Given the description of an element on the screen output the (x, y) to click on. 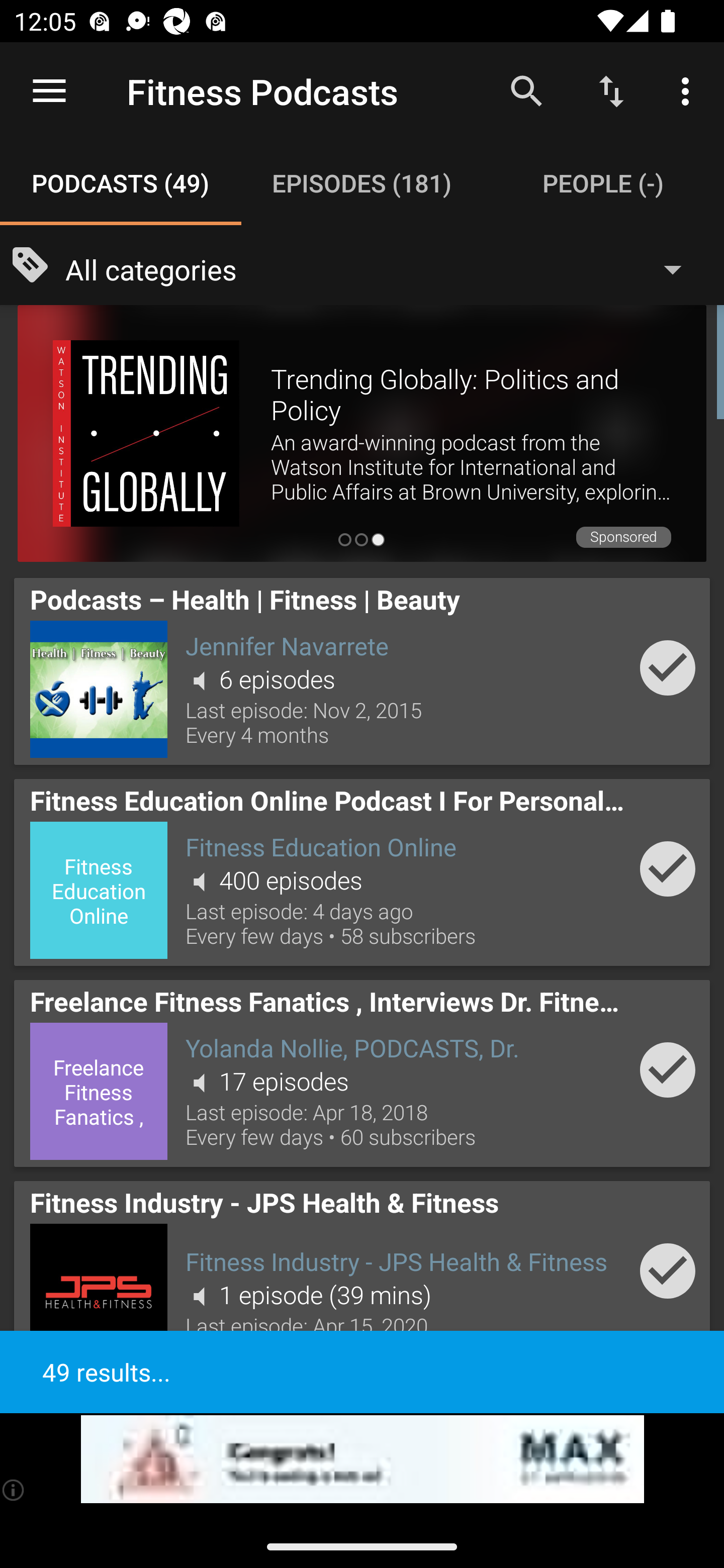
Open navigation sidebar (49, 91)
Search (526, 90)
Sort (611, 90)
More options (688, 90)
Episodes (181) EPISODES (181) (361, 183)
People (-) PEOPLE (-) (603, 183)
All categories (383, 268)
Add (667, 667)
Add (667, 868)
Add (667, 1069)
Add (667, 1271)
app-monetization (362, 1459)
(i) (14, 1489)
